Given the description of an element on the screen output the (x, y) to click on. 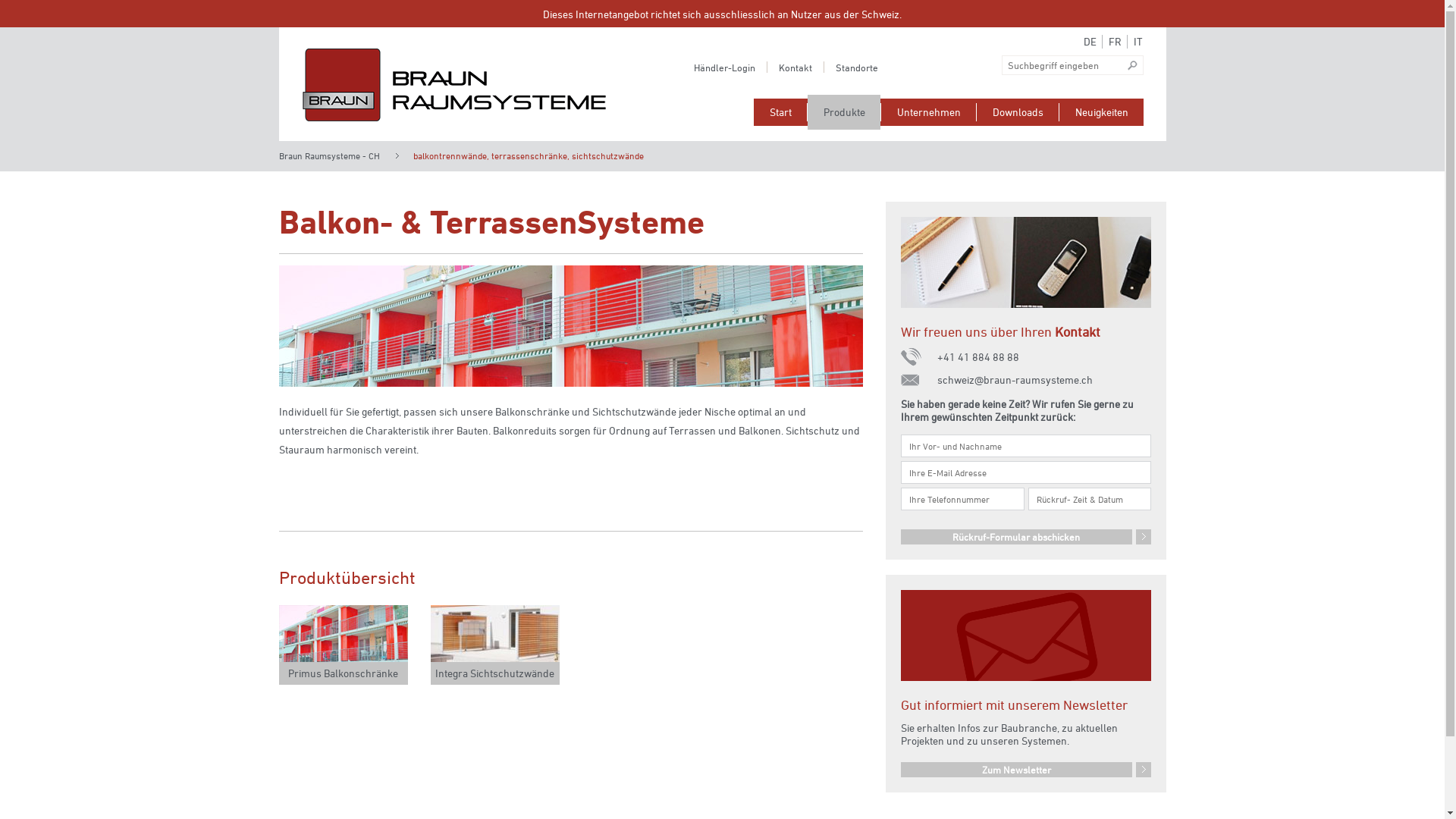
Produkte Element type: text (842, 111)
DE Element type: text (1091, 41)
Neuigkeiten Element type: text (1100, 111)
Start Element type: text (779, 111)
Kontakt Element type: text (794, 67)
FR Element type: text (1117, 41)
Braun Raumsysteme - CH Element type: text (329, 155)
Downloads Element type: text (1017, 111)
Zum Newsletter Element type: text (1025, 769)
Standorte Element type: text (856, 67)
Braun Raumsysteme Element type: text (453, 84)
IT Element type: text (1141, 41)
Unternehmen Element type: text (928, 111)
